Given the description of an element on the screen output the (x, y) to click on. 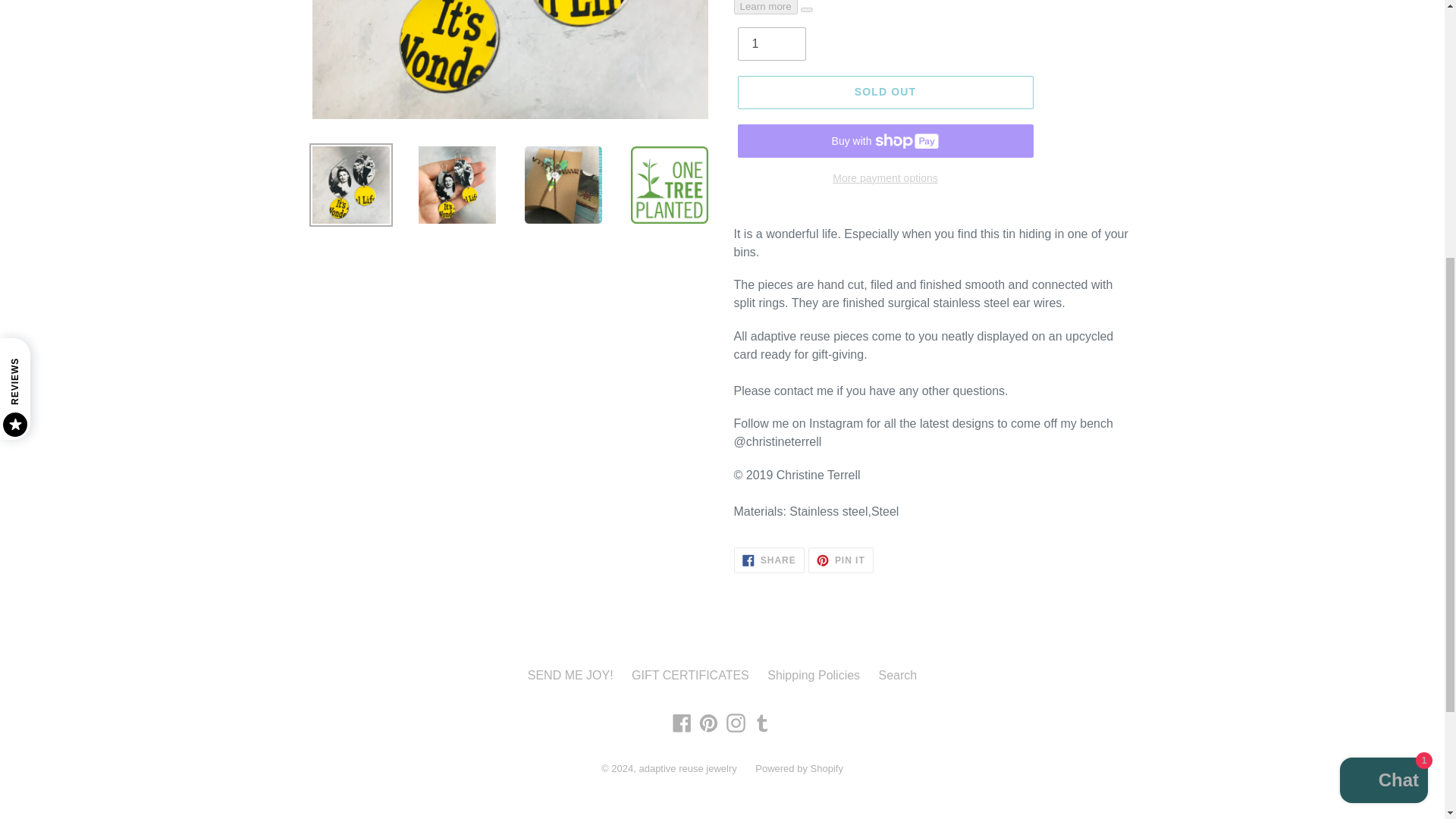
1 (770, 43)
Shopify online store chat (1383, 336)
